Given the description of an element on the screen output the (x, y) to click on. 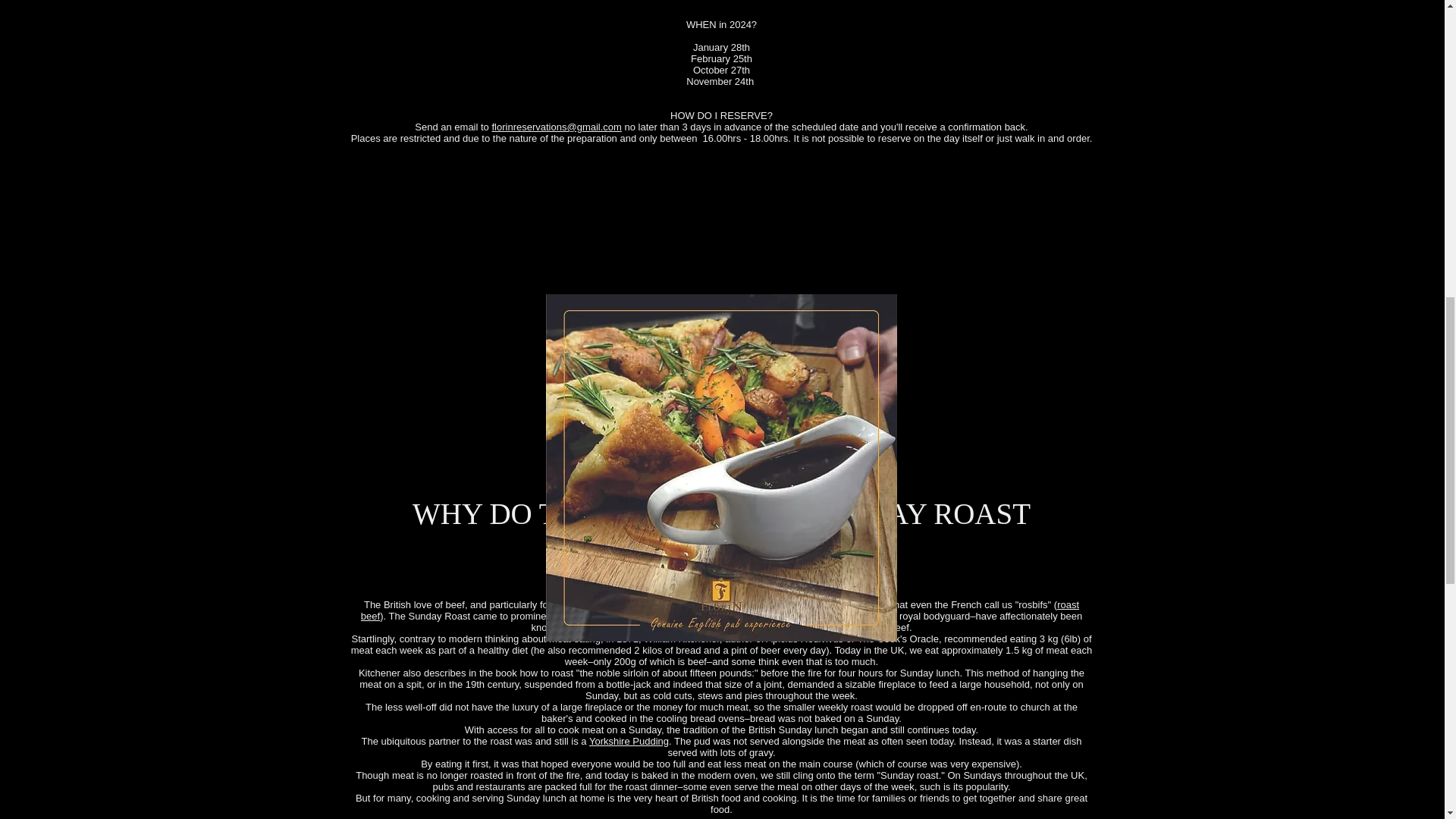
Yorkshire Pudding (628, 740)
roast beef (719, 609)
